Given the description of an element on the screen output the (x, y) to click on. 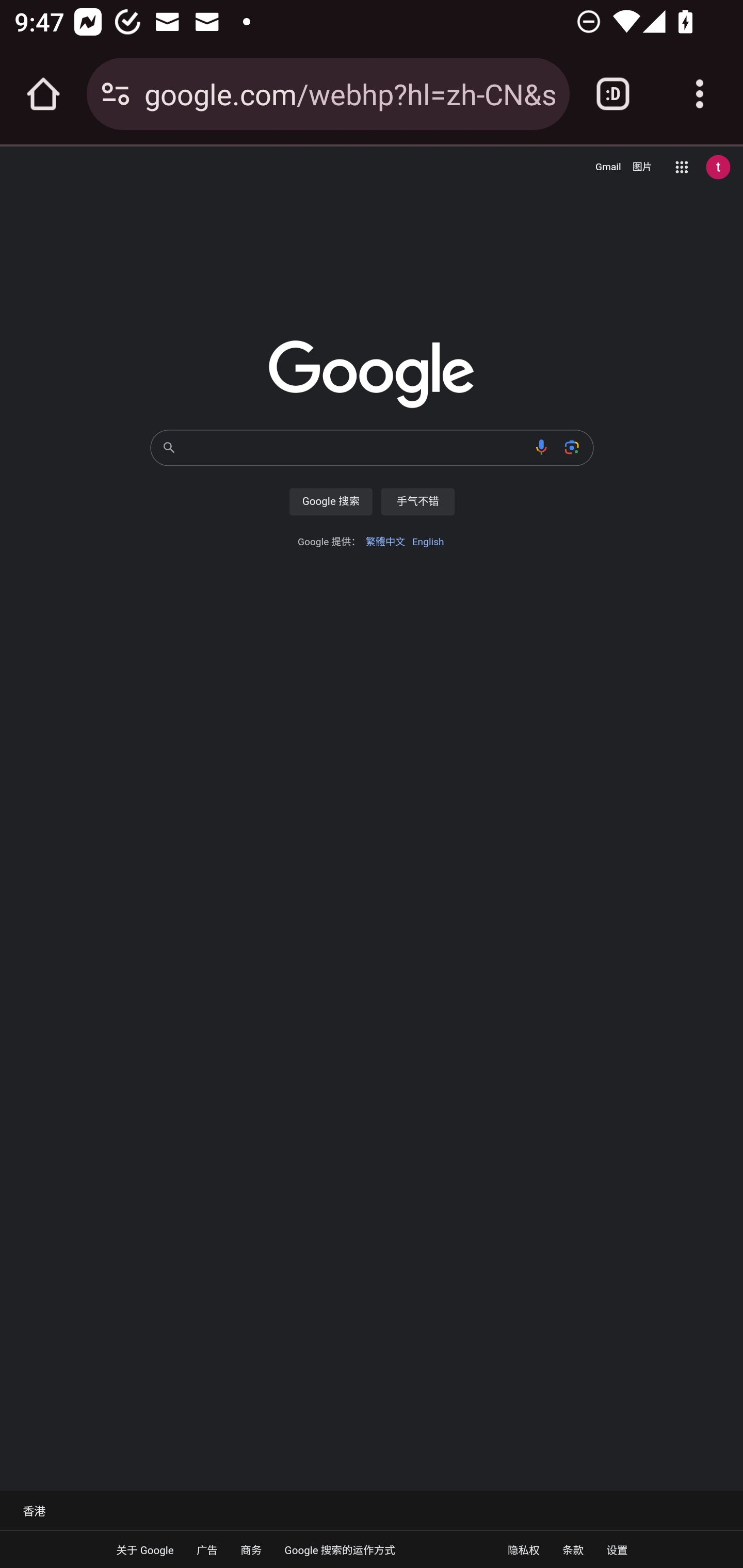
Open the home page (43, 93)
Connection is secure (115, 93)
Switch or close tabs (612, 93)
Customize and control Google Chrome (699, 93)
Google 应用 (681, 167)
Google 账号： test appium (testappium002@gmail.com) (718, 167)
Gmail （打开新标签页） Gmail (608, 166)
搜索图片 （打开新标签页） 图片 (641, 166)
按语音搜索 (541, 446)
按图搜索 (571, 446)
Google 搜索 (330, 501)
 手气不错  (417, 501)
繁體中文 (384, 541)
English (427, 541)
关于 Google (144, 1549)
广告 (206, 1549)
商务 (251, 1549)
Google 搜索的运作方式 (339, 1549)
隐私权 (523, 1549)
条款 (572, 1549)
设置 (616, 1549)
